Given the description of an element on the screen output the (x, y) to click on. 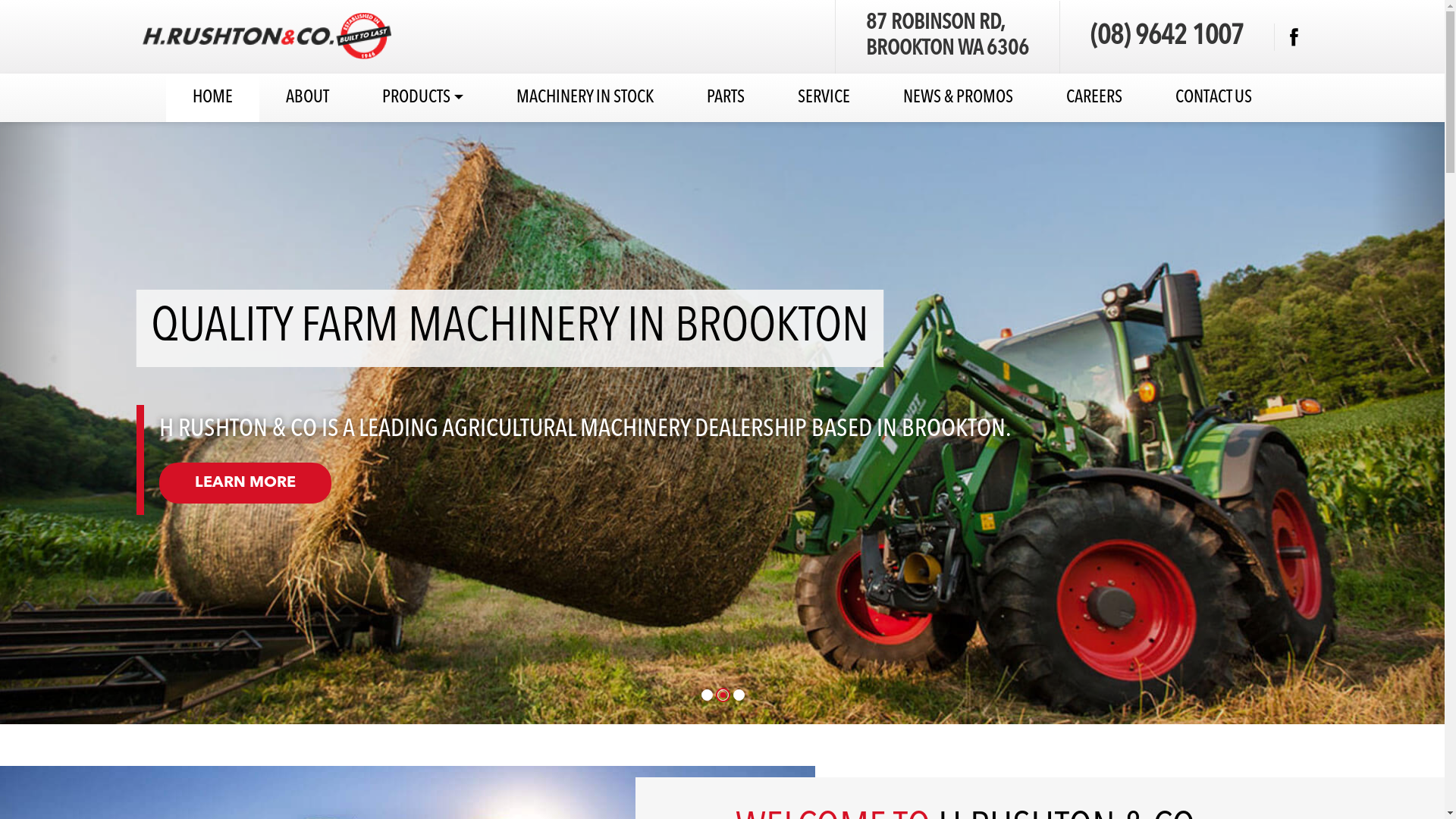
Previous Element type: text (36, 423)
CONTACT US Element type: text (1213, 97)
87 ROBINSON RD,
BROOKTON WA 6306 Element type: text (947, 35)
(08) 9642 1007 Element type: text (1166, 36)
NEWS & PROMOS Element type: text (957, 97)
HOME Element type: text (212, 97)
ABOUT Element type: text (307, 97)
PARTS Element type: text (725, 97)
CAREERS Element type: text (1094, 97)
SERVICE Element type: text (823, 97)
PRODUCTS Element type: text (422, 97)
MACHINERY IN STOCK Element type: text (584, 97)
Next Element type: text (1408, 423)
